Given the description of an element on the screen output the (x, y) to click on. 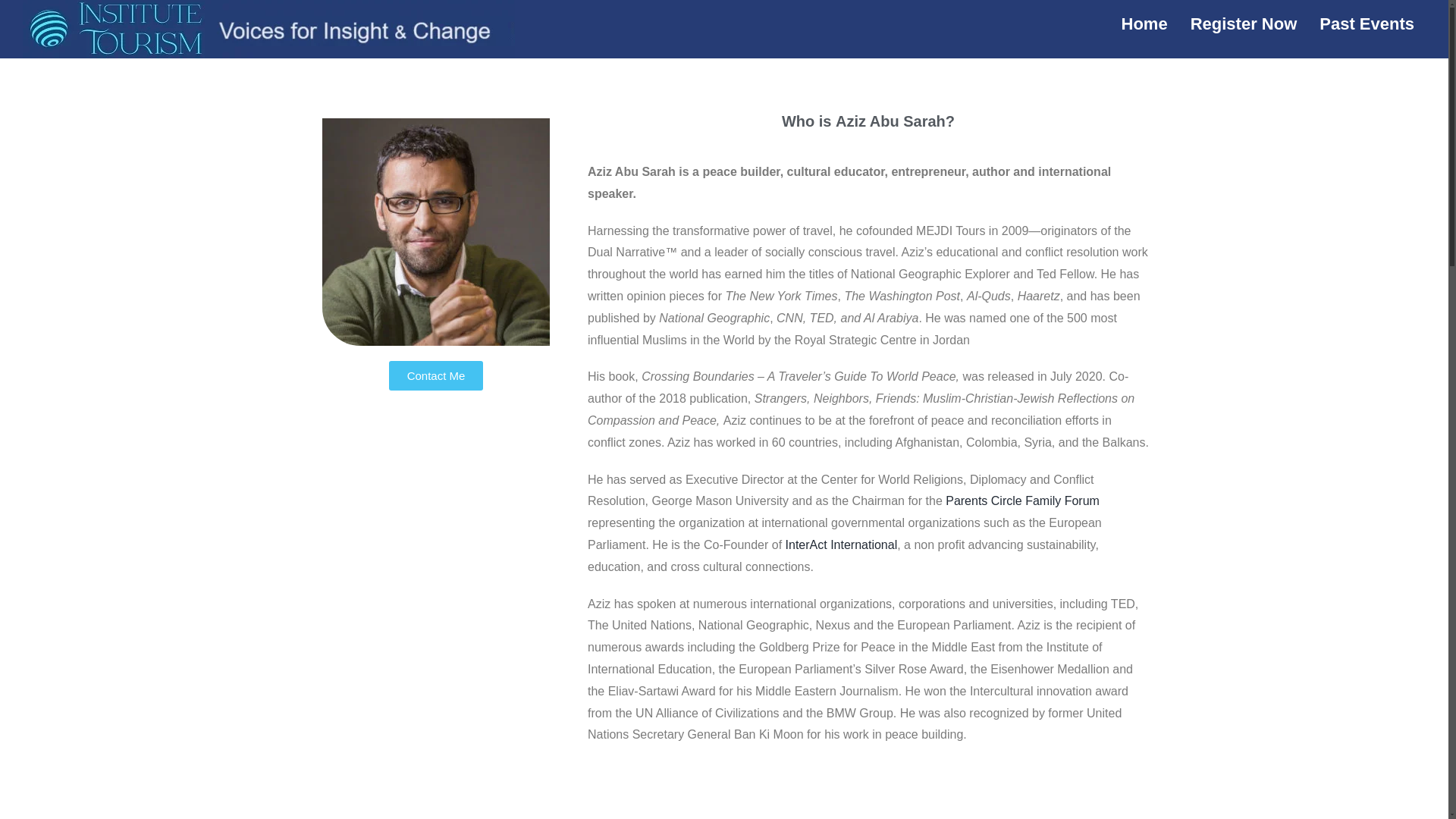
Past Events (1366, 24)
Home (1144, 24)
Parents Circle Family Forum (1021, 500)
Contact Me (435, 375)
InterAct International (842, 544)
Register Now (1243, 24)
